Given the description of an element on the screen output the (x, y) to click on. 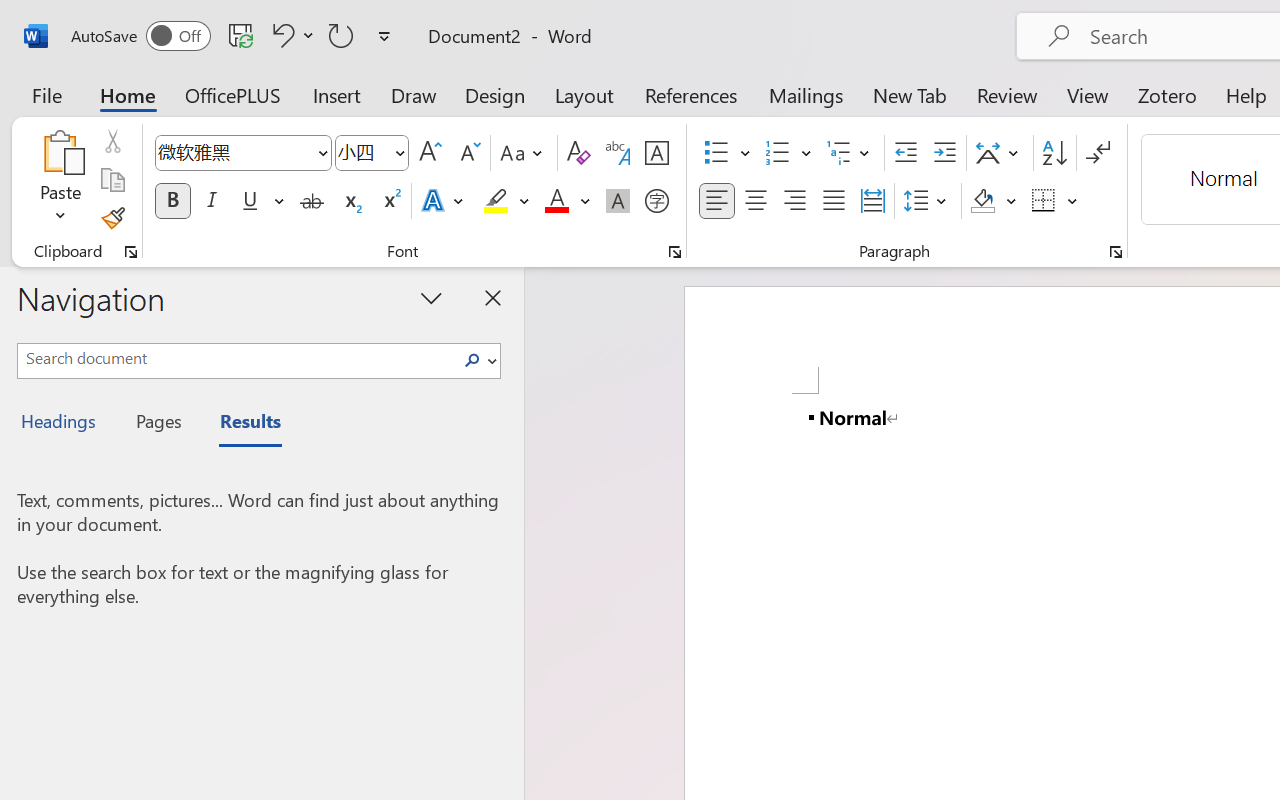
Font Color (567, 201)
Bullets (727, 153)
Distributed (872, 201)
Paste (60, 179)
Phonetic Guide... (618, 153)
Search document (236, 358)
Layout (584, 94)
Font (242, 153)
Character Border (656, 153)
Superscript (390, 201)
Undo <ApplyStyleToDoc>b__0 (280, 35)
Results (240, 424)
Enclose Characters... (656, 201)
Pages (156, 424)
Insert (337, 94)
